Given the description of an element on the screen output the (x, y) to click on. 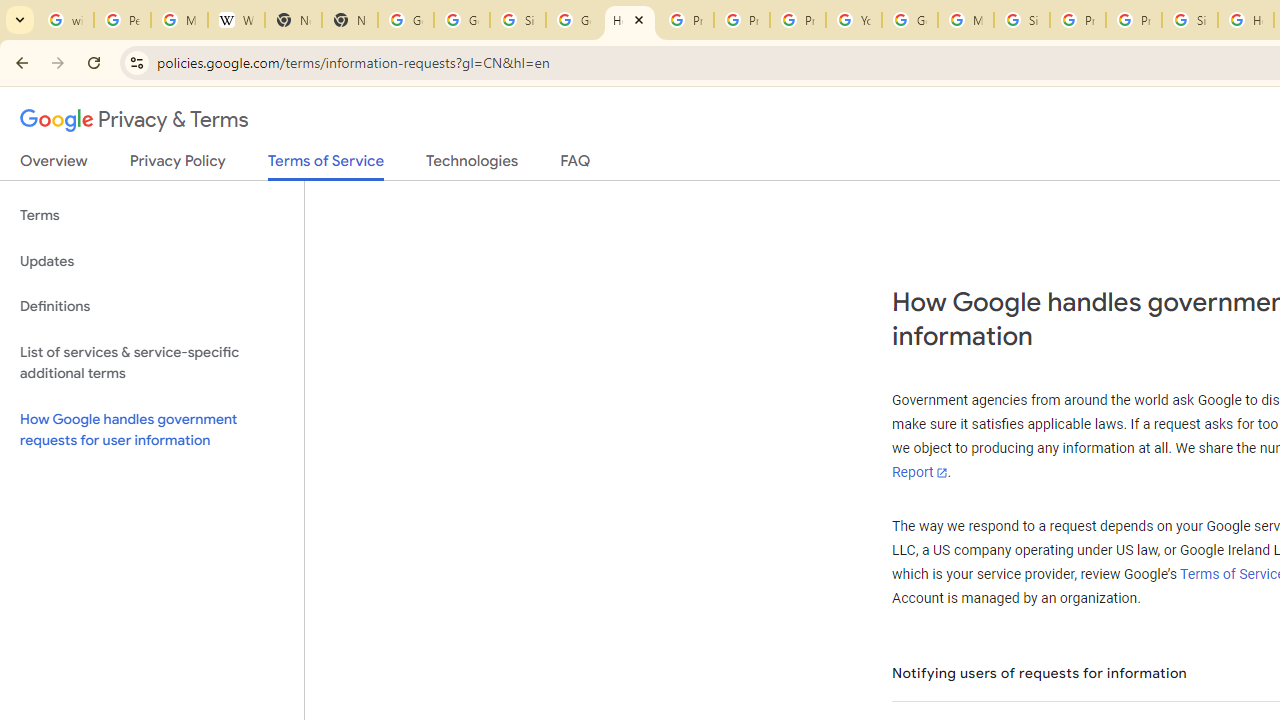
Personalization & Google Search results - Google Search Help (122, 20)
Google Drive: Sign-in (461, 20)
YouTube (853, 20)
Definitions (152, 306)
Sign in - Google Accounts (1190, 20)
